Given the description of an element on the screen output the (x, y) to click on. 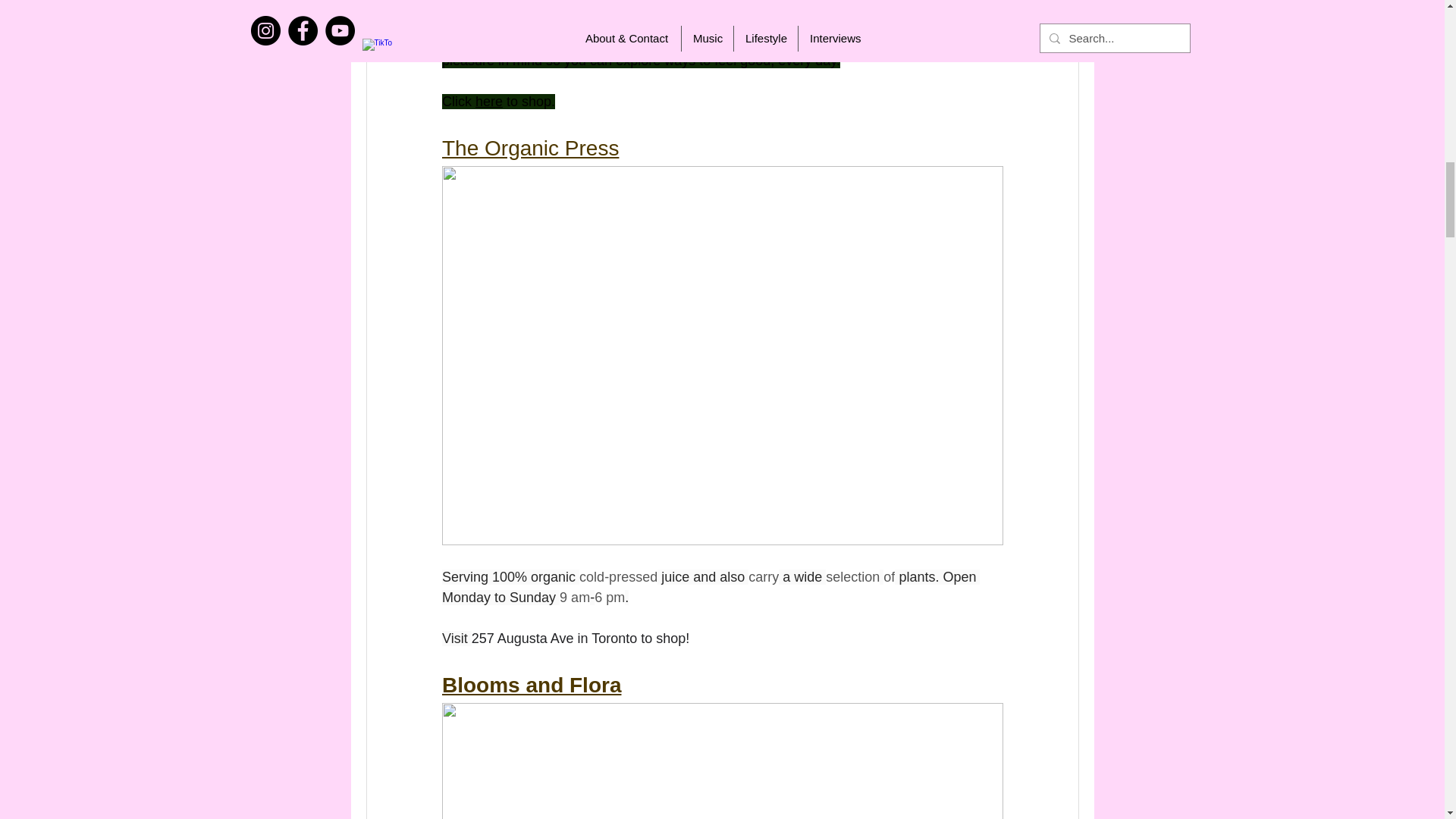
here (488, 101)
